Given the description of an element on the screen output the (x, y) to click on. 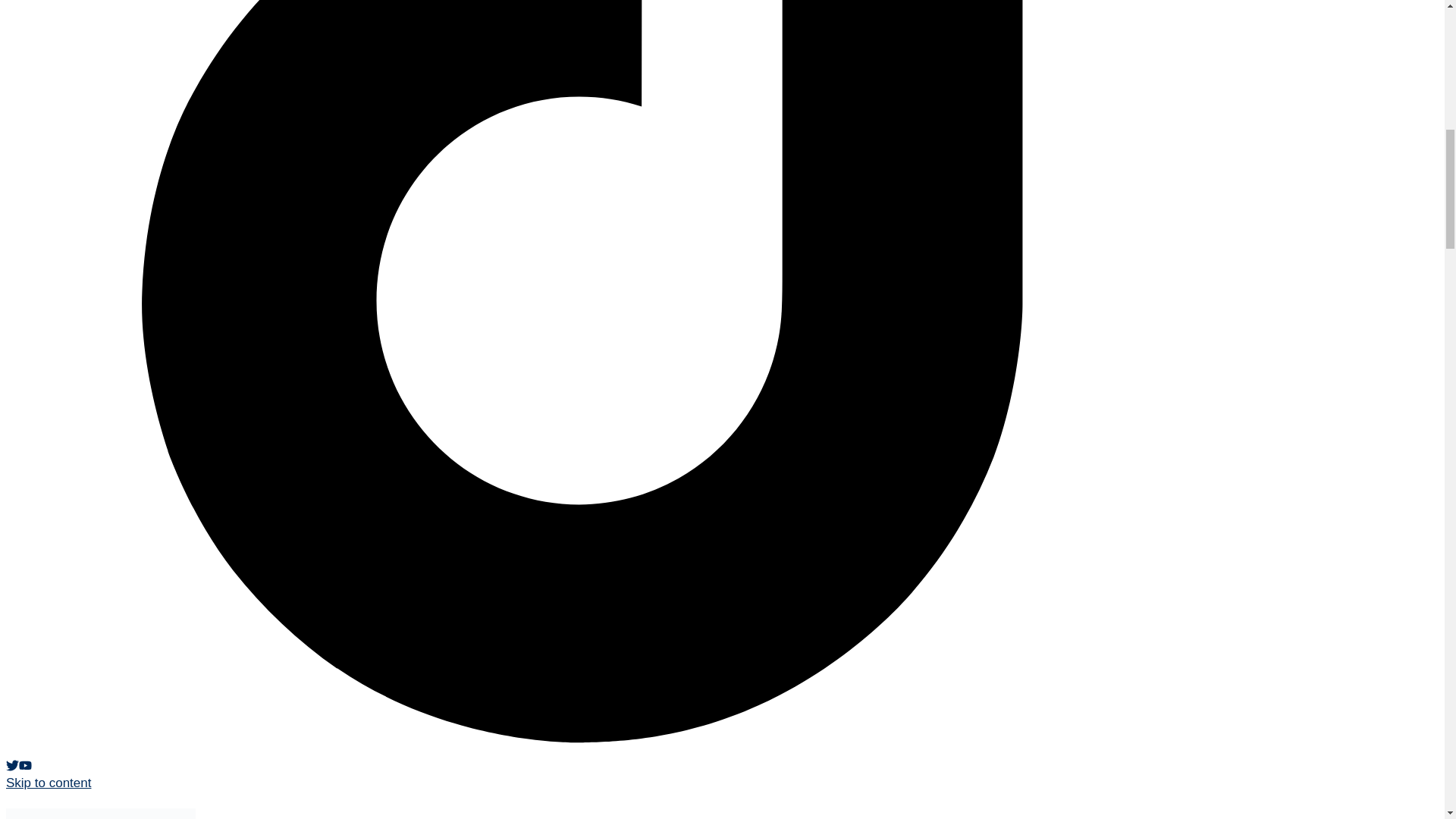
Skip to content (47, 782)
Skip to content (47, 782)
